Given the description of an element on the screen output the (x, y) to click on. 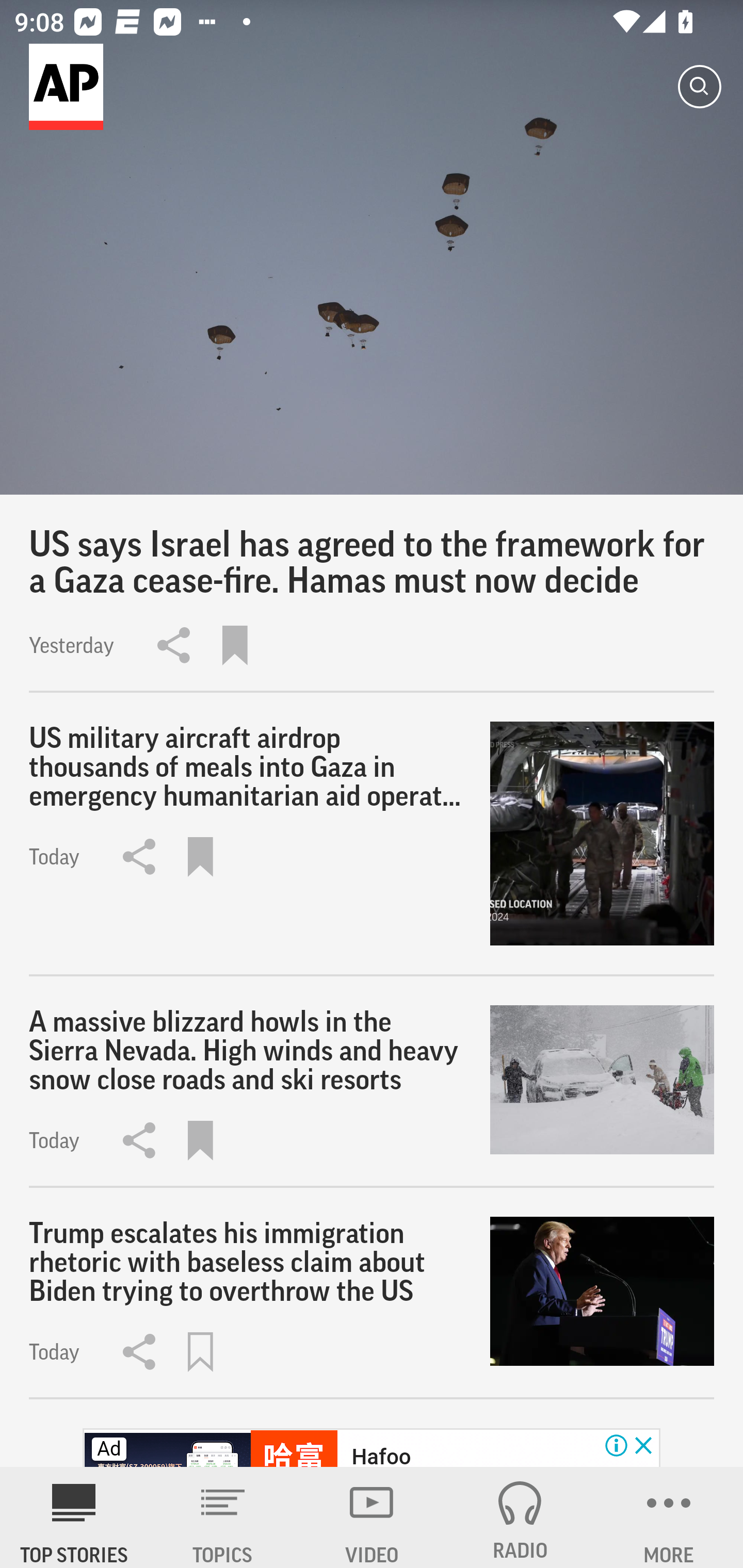
Hafoo (381, 1454)
AP News TOP STORIES (74, 1517)
TOPICS (222, 1517)
VIDEO (371, 1517)
RADIO (519, 1517)
MORE (668, 1517)
